Given the description of an element on the screen output the (x, y) to click on. 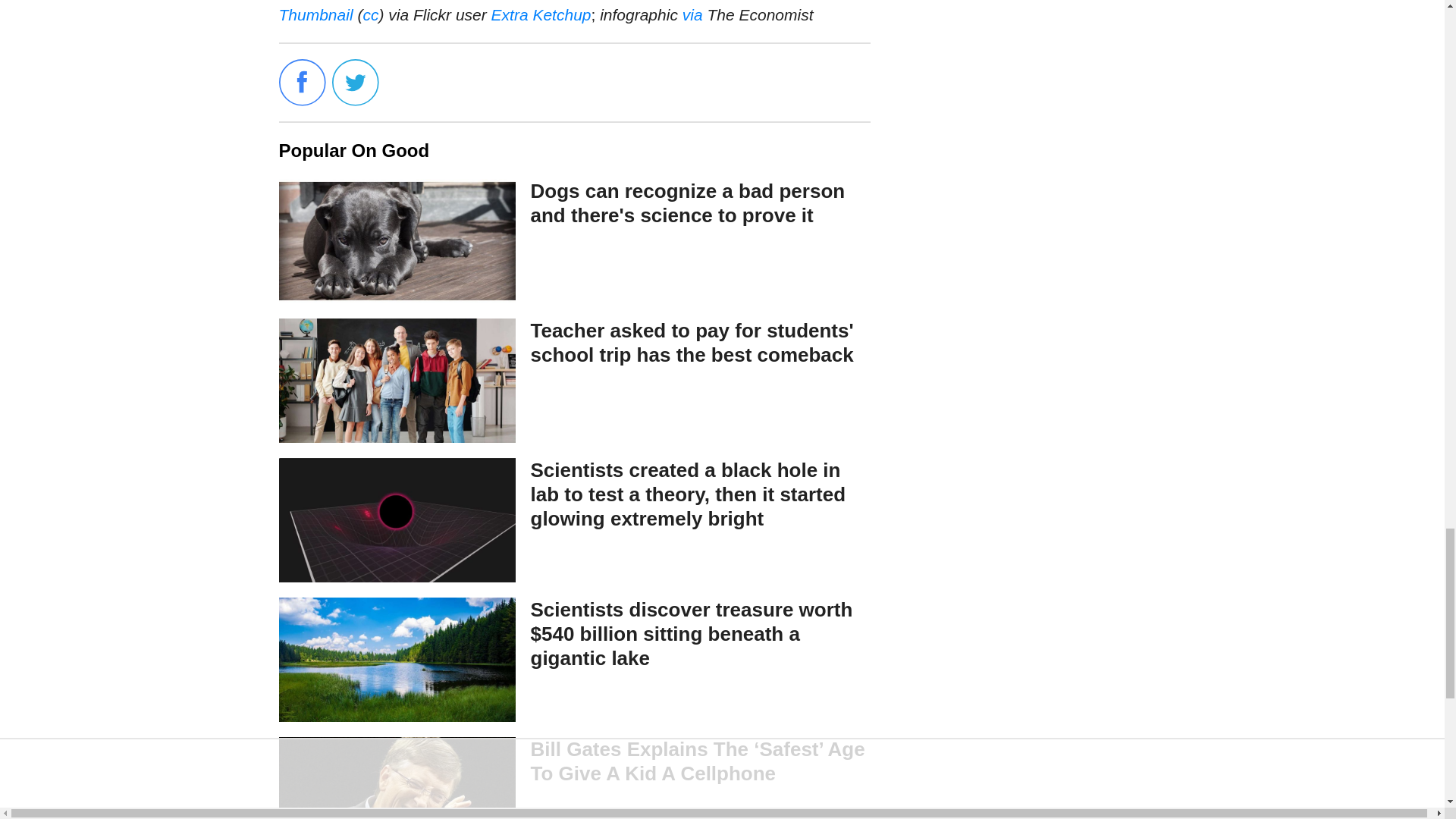
via (692, 14)
Thumbnail (316, 14)
cc (370, 14)
Extra Ketchup (541, 14)
